Given the description of an element on the screen output the (x, y) to click on. 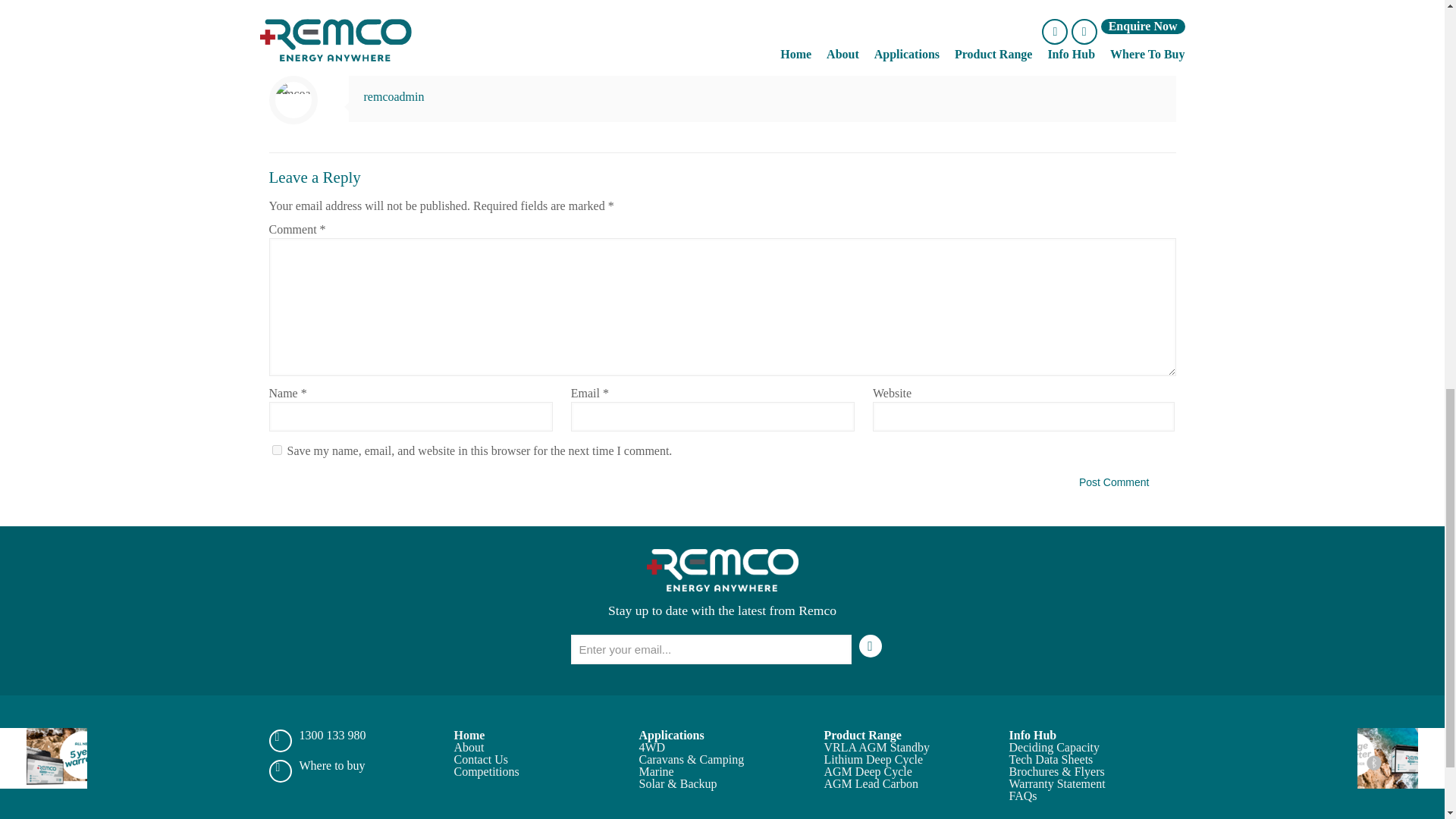
yes (275, 450)
0 (1162, 28)
remcoadmin (394, 96)
Post Comment (1114, 482)
